Given the description of an element on the screen output the (x, y) to click on. 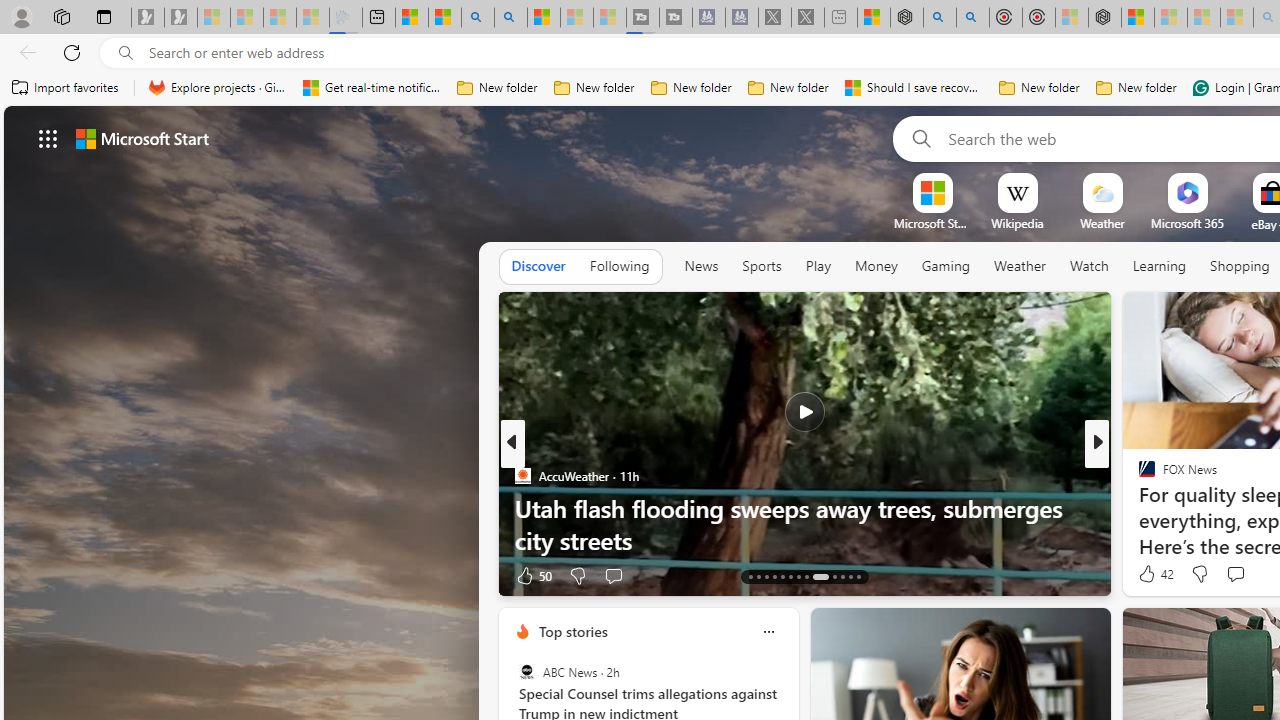
Shopping (1240, 265)
Play (818, 267)
79 Like (1149, 574)
Sports (761, 267)
Wikipedia (1017, 223)
Weather (1019, 267)
poe - Search (940, 17)
ABC News (526, 672)
272 Like (1151, 574)
AutomationID: tab-23 (842, 576)
Sports (761, 265)
AccuWeather (522, 475)
